Given the description of an element on the screen output the (x, y) to click on. 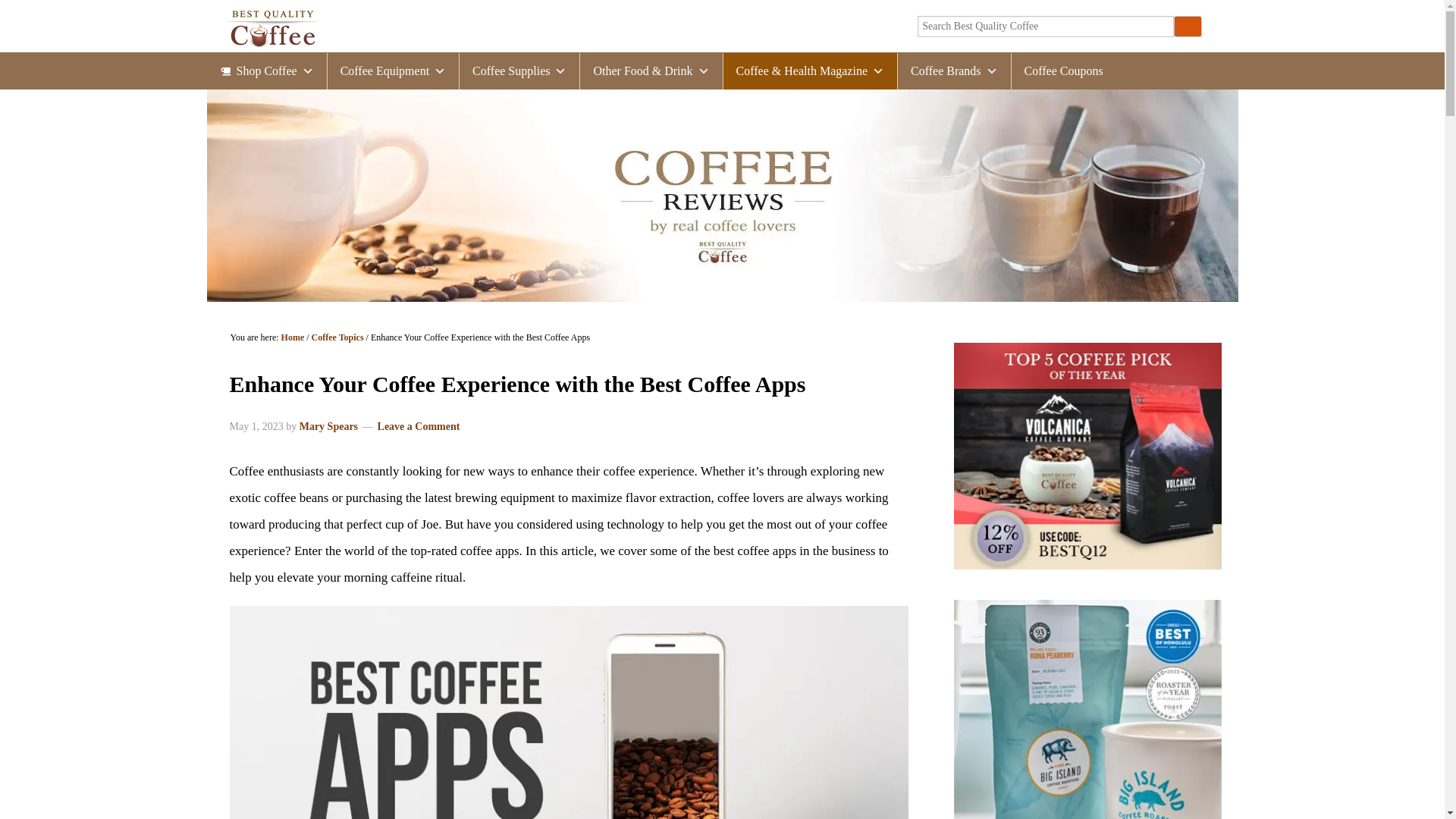
Shop Coffee (266, 71)
Big Island Roasters Coffee (1087, 709)
Volcanica Coffee Discount Code (1087, 456)
icon-shopcoffee (954, 71)
Coffee Equipment (392, 71)
Coffee Coupons (1063, 71)
